Given the description of an element on the screen output the (x, y) to click on. 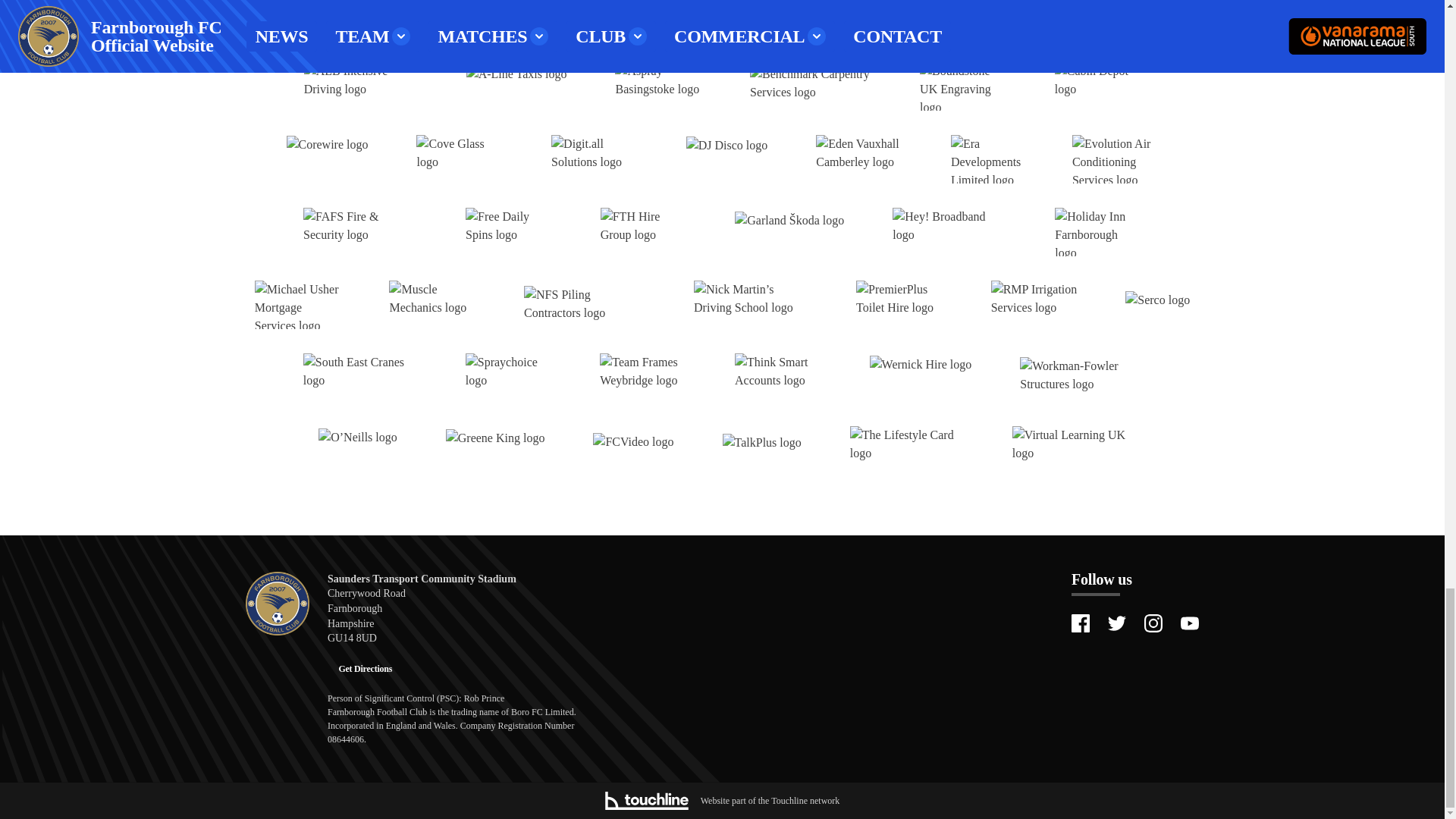
Find us on YouTube (1189, 623)
Find us on Facebook (1080, 623)
Find us on Twitter (1116, 623)
Find us on Instagram (1152, 623)
